Given the description of an element on the screen output the (x, y) to click on. 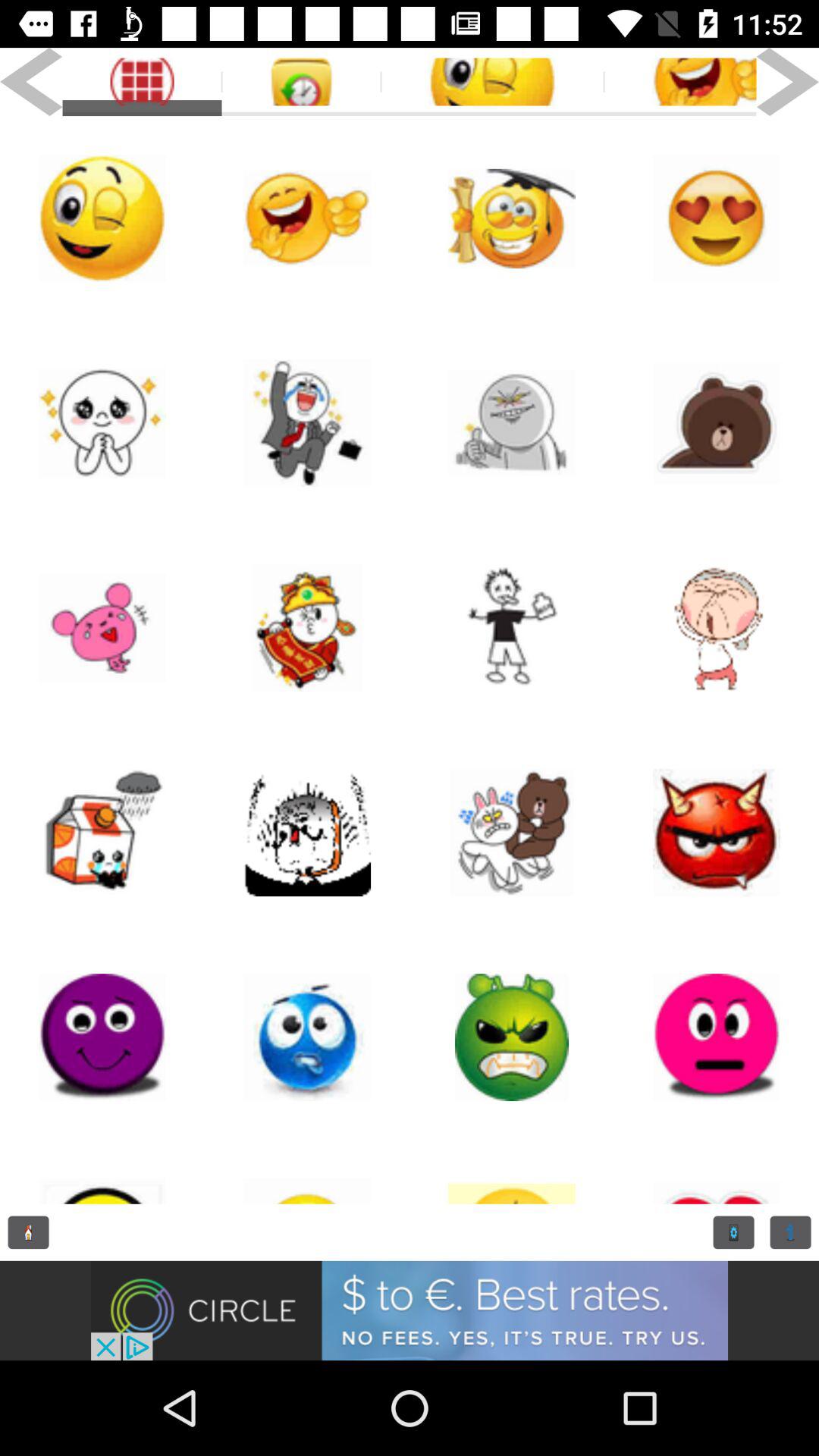
select this icon (102, 627)
